Given the description of an element on the screen output the (x, y) to click on. 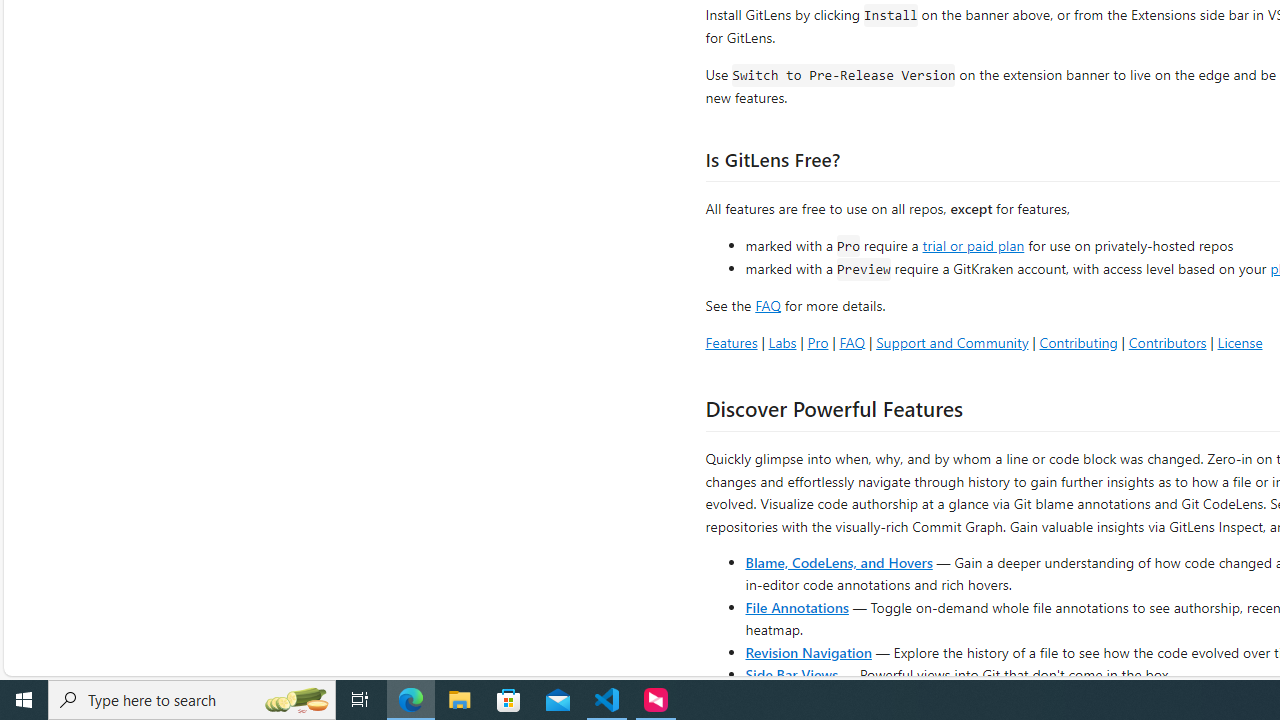
Support and Community (952, 341)
File Annotations (796, 606)
trial or paid plan (973, 244)
Side Bar Views (791, 673)
License (1240, 341)
FAQ (852, 341)
Blame, CodeLens, and Hovers (838, 561)
Contributors (1167, 341)
Contributing (1078, 341)
Features (731, 341)
Pro (817, 341)
Labs (782, 341)
Revision Navigation (807, 651)
